Given the description of an element on the screen output the (x, y) to click on. 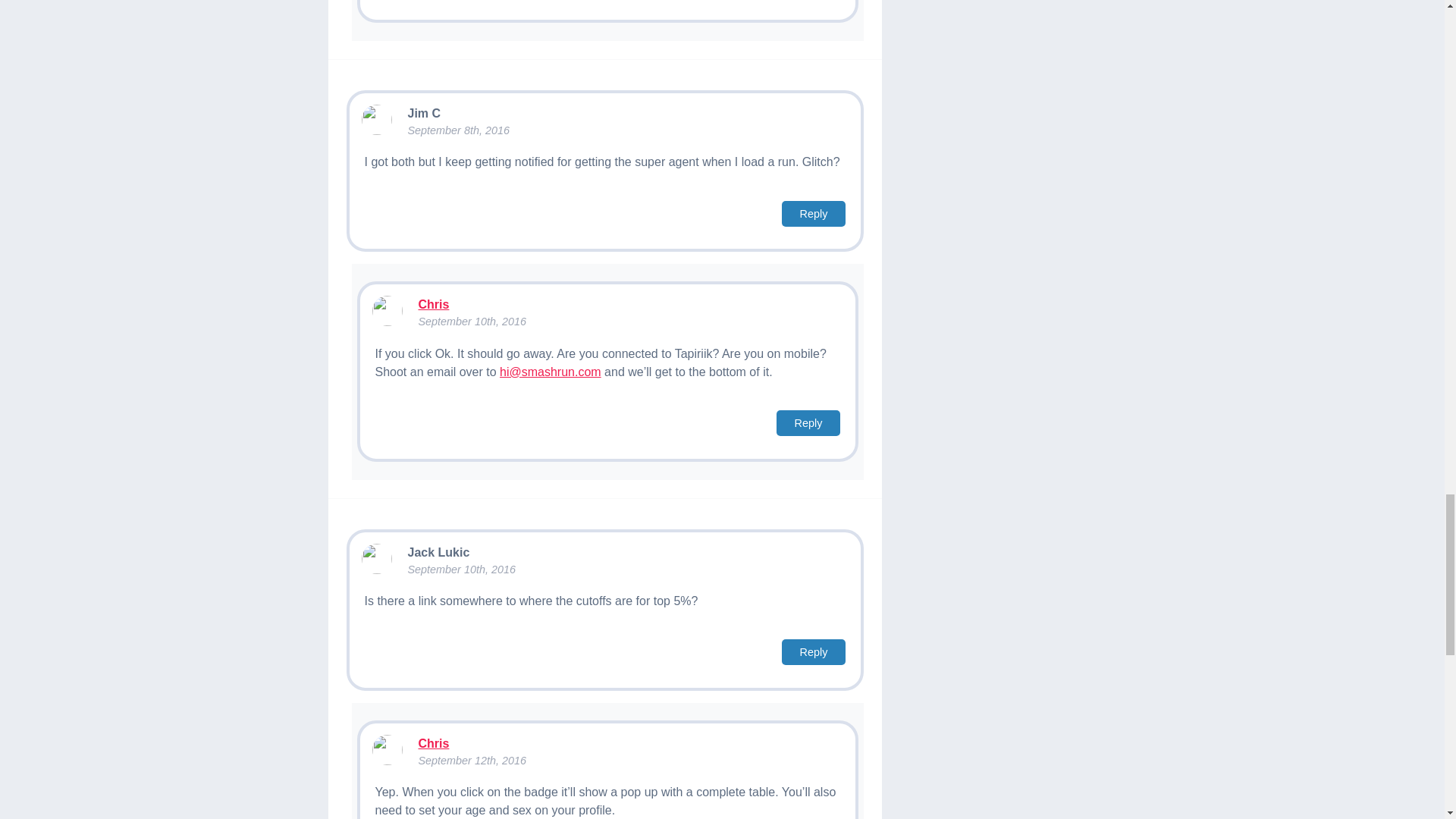
Reply (813, 652)
September 12th, 2016 (472, 760)
Reply (813, 213)
Reply (808, 422)
Chris (434, 743)
Chris (434, 304)
September 8th, 2016 (458, 130)
September 10th, 2016 (472, 321)
September 10th, 2016 (461, 569)
